Given the description of an element on the screen output the (x, y) to click on. 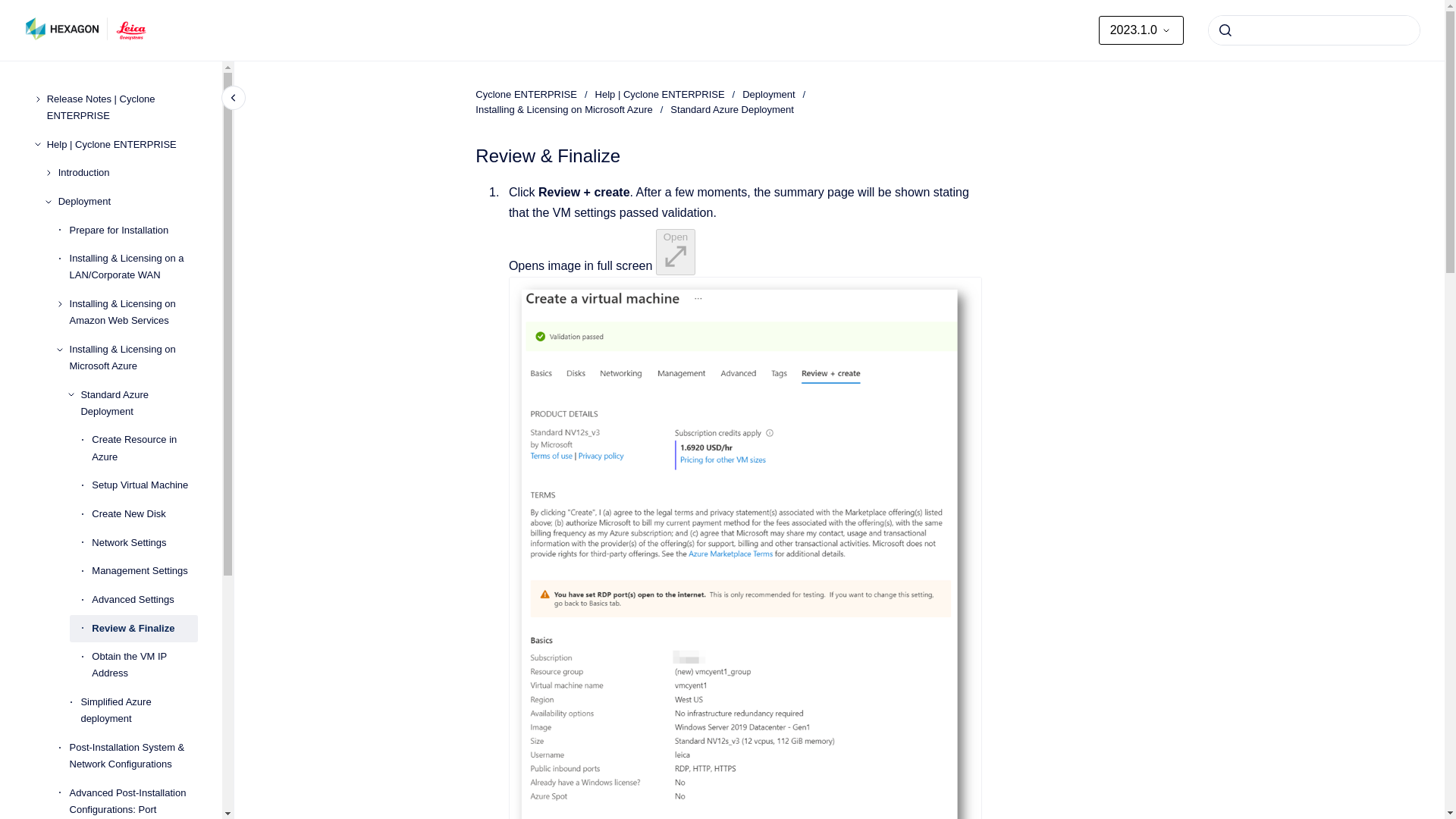
Introduction (128, 172)
Deployment (128, 201)
Setup Virtual Machine (144, 484)
Go to homepage (86, 30)
Simplified Azure deployment (139, 710)
Create Resource in Azure (144, 448)
Advanced Settings (144, 599)
Management Settings (144, 571)
Network Settings (144, 542)
Obtain the VM IP Address (144, 665)
